Given the description of an element on the screen output the (x, y) to click on. 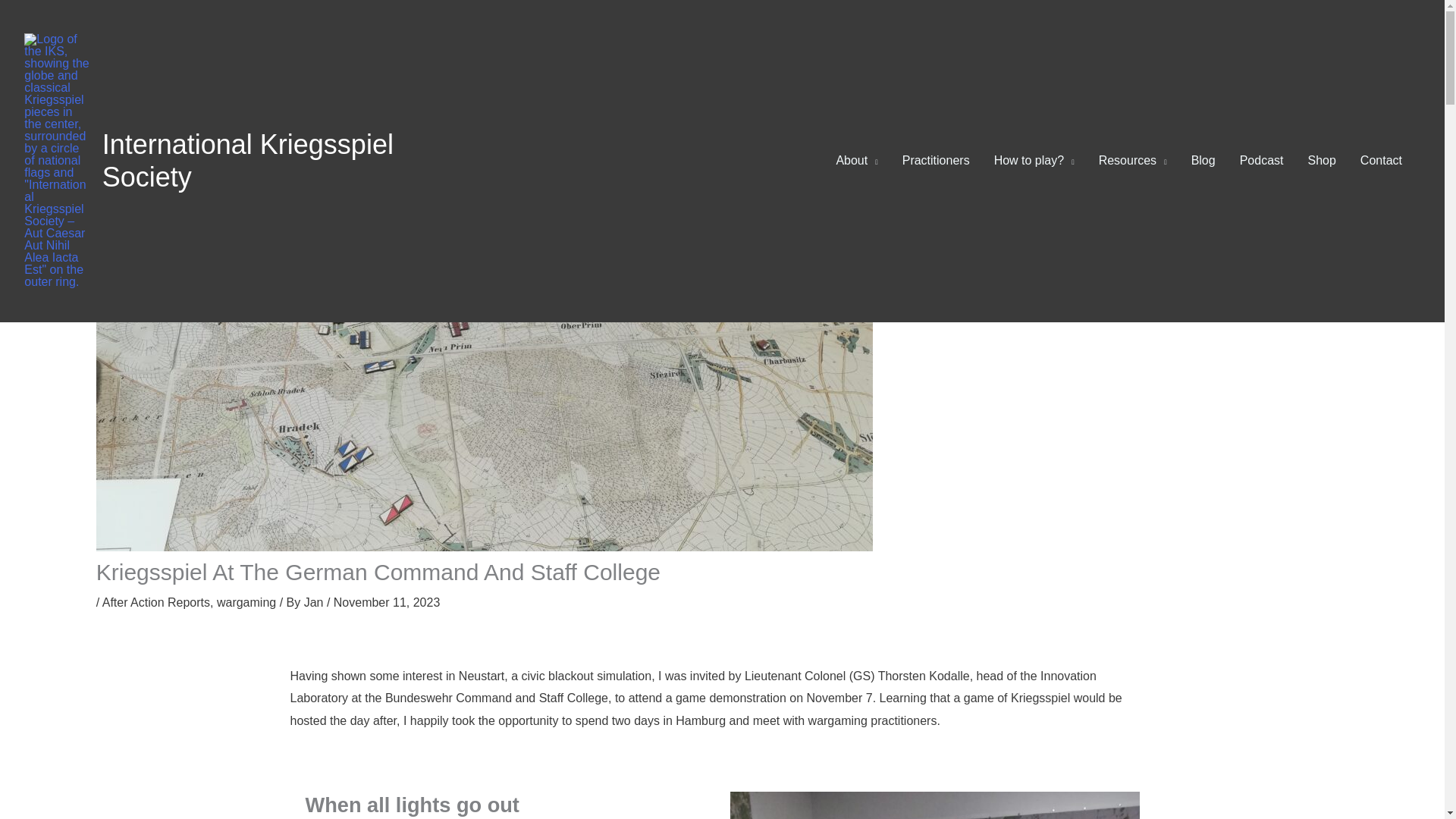
Practitioners (935, 160)
Podcast (1261, 160)
Contact (1380, 160)
Resources (1132, 160)
International Kriegsspiel Society (247, 160)
Blog (1203, 160)
Shop (1321, 160)
About (856, 160)
View all posts by Jan (315, 602)
How to play? (1033, 160)
